Given the description of an element on the screen output the (x, y) to click on. 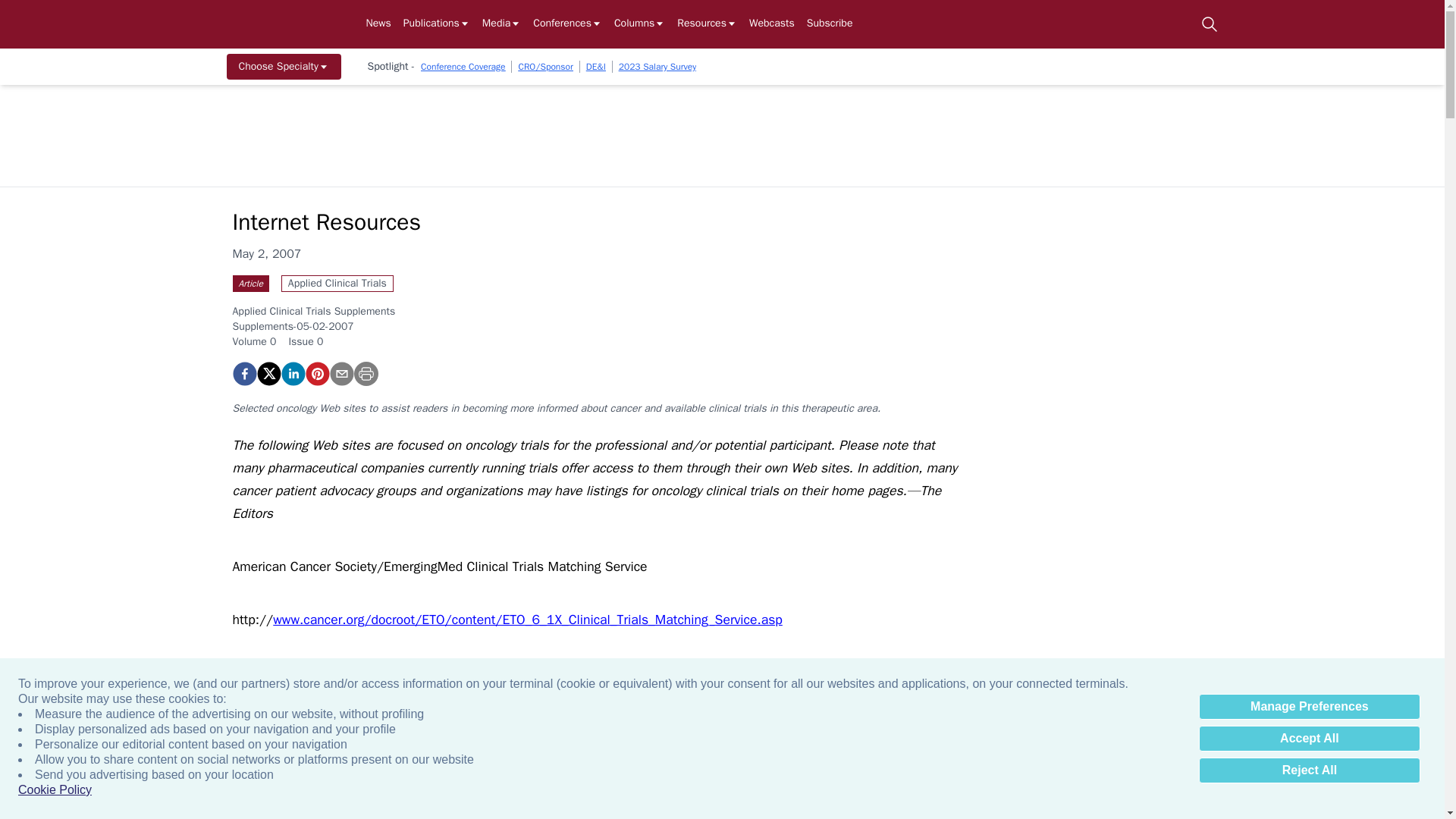
Manage Preferences (1309, 706)
Cookie Policy (54, 789)
Reject All (1309, 769)
Internet Resources (316, 373)
Subscribe (829, 23)
Columns (639, 23)
Resources (706, 23)
Accept All (1309, 738)
Choose Specialty (282, 66)
Media (501, 23)
